Given the description of an element on the screen output the (x, y) to click on. 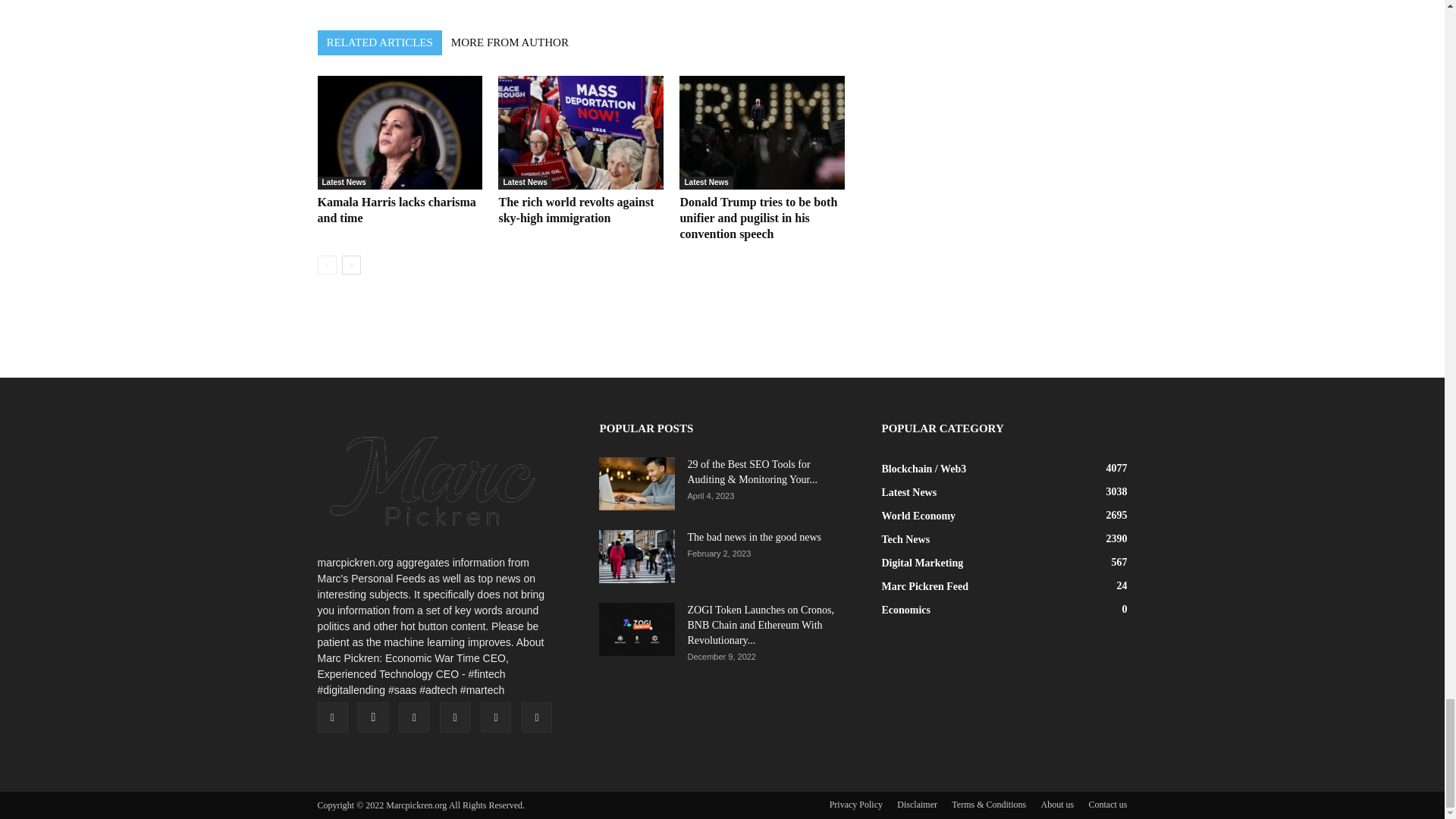
Kamala Harris lacks charisma and time (396, 209)
Kamala Harris lacks charisma and time (399, 132)
The rich world revolts against sky-high immigration (580, 132)
